Given the description of an element on the screen output the (x, y) to click on. 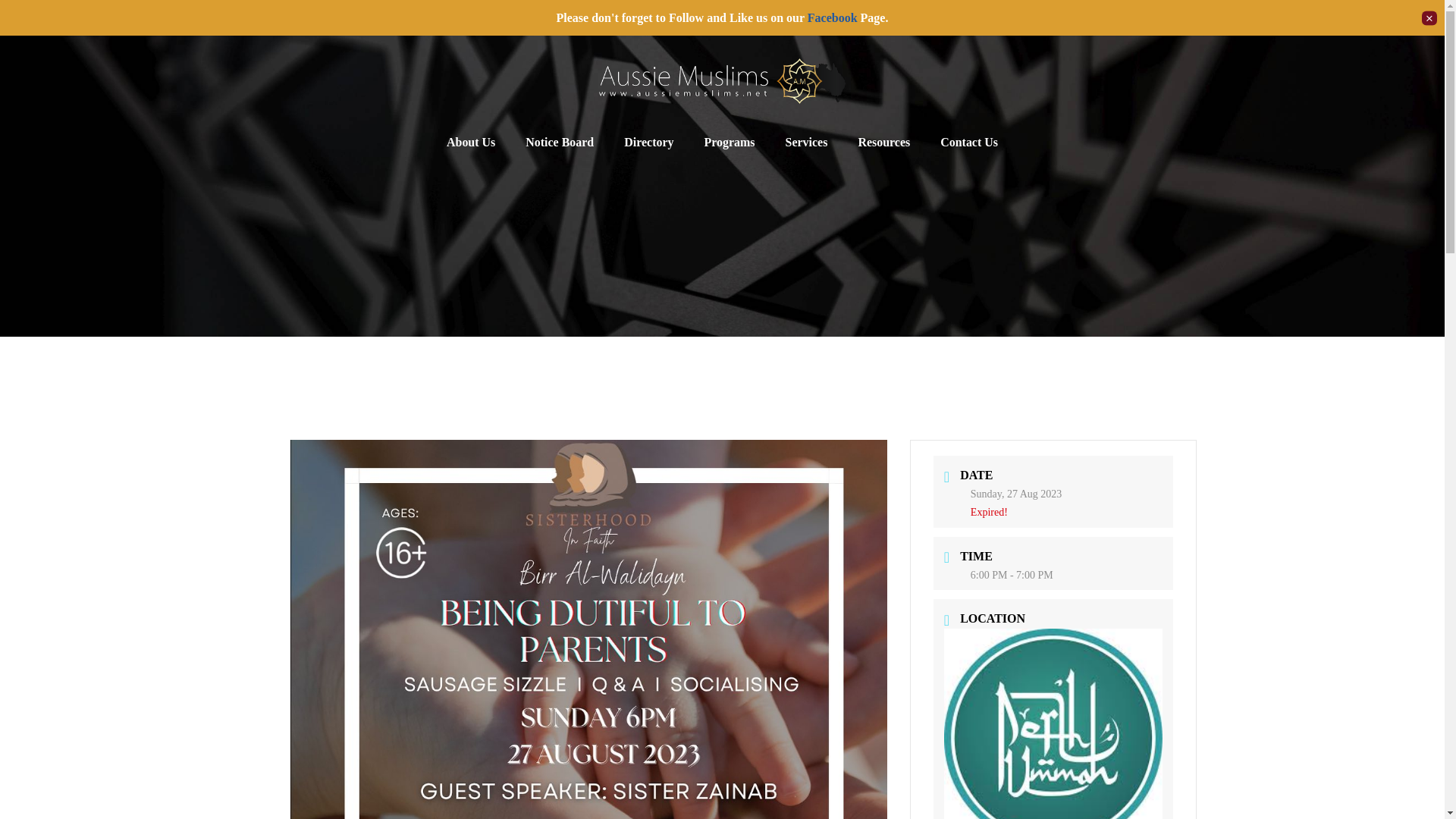
Facebook (832, 17)
Contact Us (968, 142)
Services (806, 142)
Notice Board (559, 142)
Programs (729, 142)
Resources (883, 142)
About Us (470, 142)
Directory (648, 142)
